Given the description of an element on the screen output the (x, y) to click on. 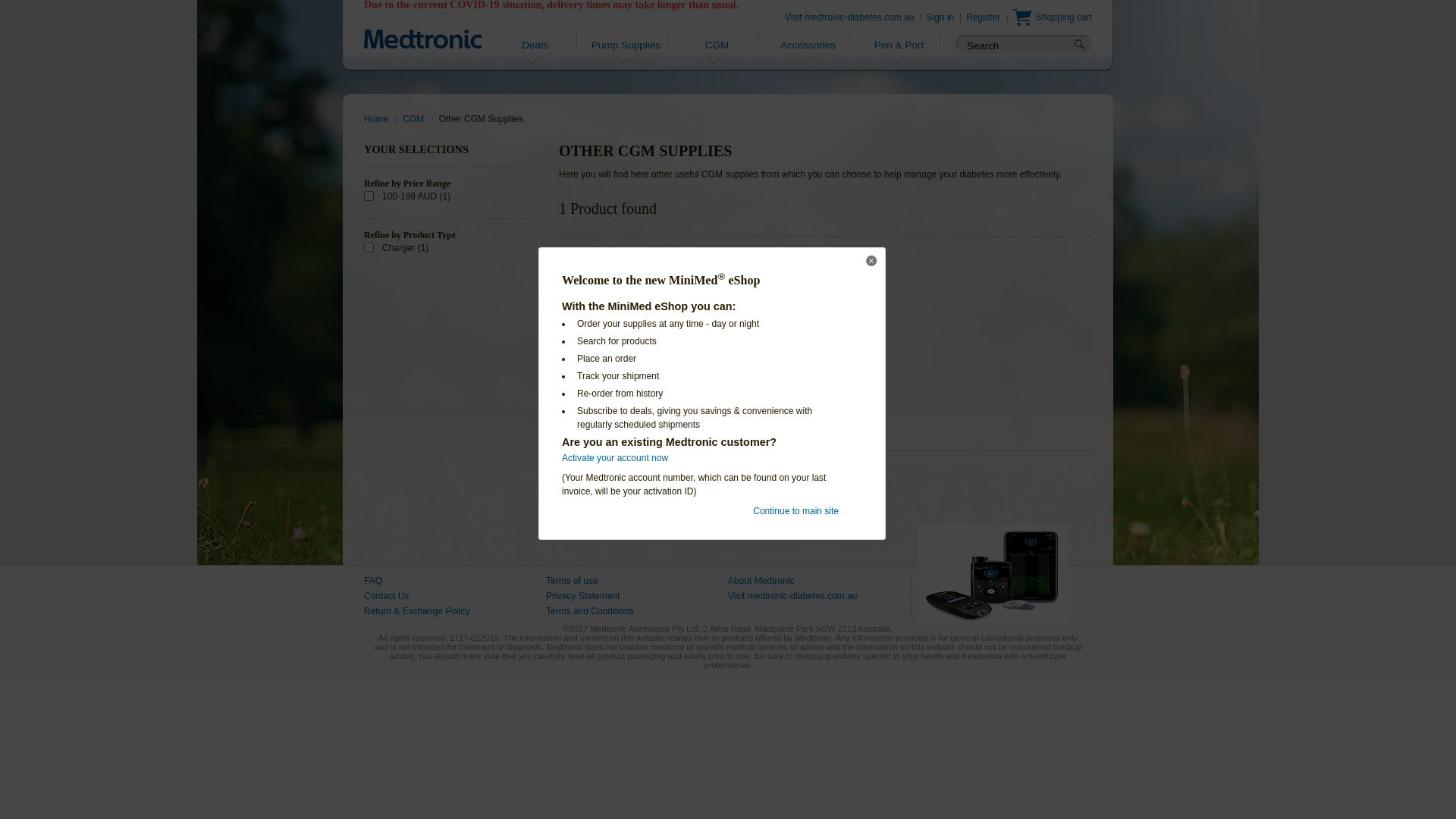
About Medtronic Element type: text (760, 580)
FAQ Element type: text (373, 580)
Visit medtronic-diabetes.com.au Element type: text (849, 17)
Activate your account now Element type: text (614, 457)
CGM Element type: text (716, 53)
Sign in Element type: text (940, 17)
Visit medtronic-diabetes.com.au Element type: text (792, 595)
Contact Us Element type: text (386, 595)
Pen & Port Element type: text (898, 53)
Terms and Conditions Element type: text (589, 610)
Home Element type: text (380, 118)
Return & Exchange Policy Element type: text (416, 610)
Shopping cart Element type: text (1052, 18)
Register Element type: text (983, 17)
Accessories Element type: text (807, 53)
Terms of use Element type: text (572, 580)
MiniLink Transmitter Charger Element type: hover (646, 317)
Pump Supplies Element type: text (625, 53)
CGM Element type: text (417, 118)
Continue to main site Element type: text (795, 510)
Search Element type: hover (1014, 45)
Privacy Statement Element type: text (582, 595)
Deals Element type: text (534, 53)
